Given the description of an element on the screen output the (x, y) to click on. 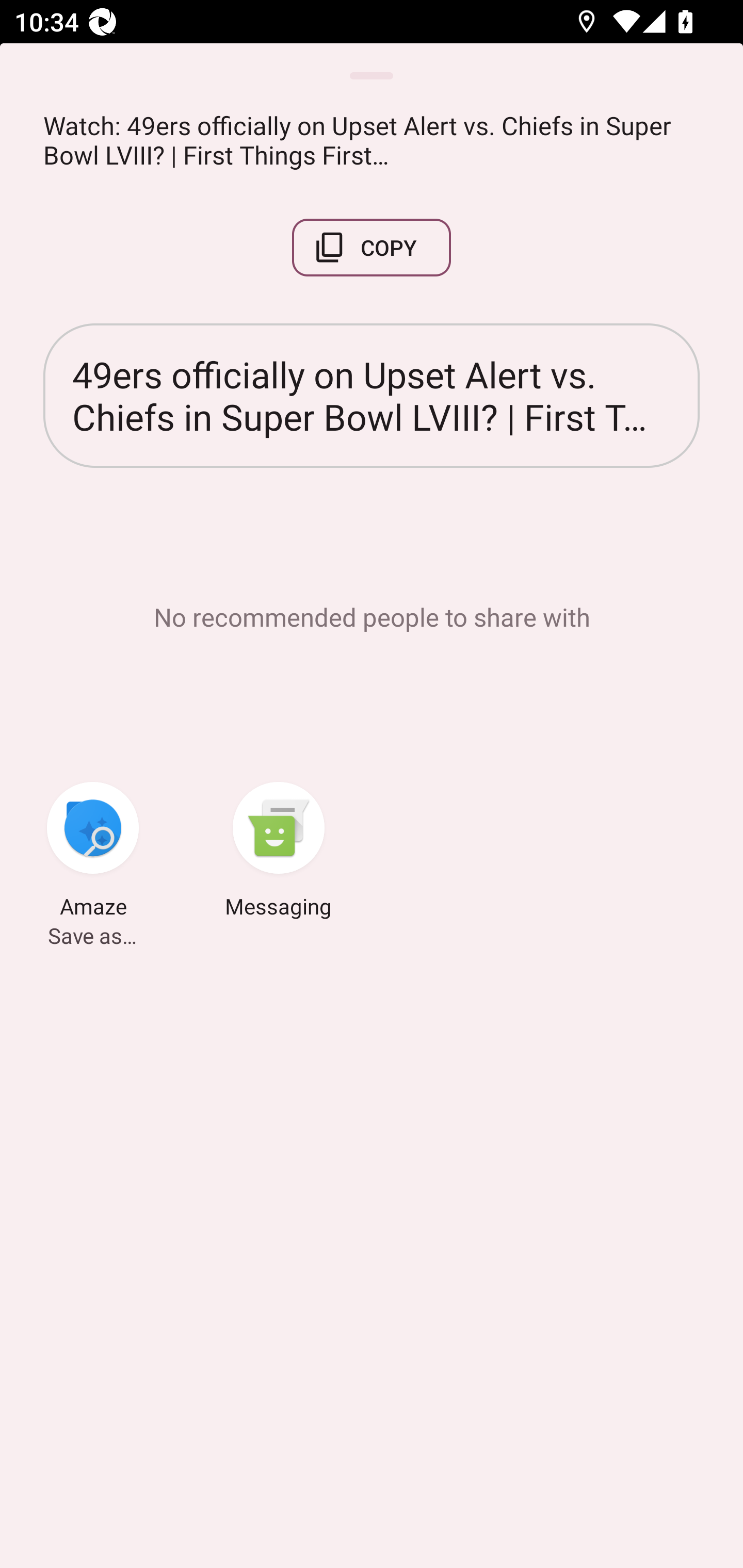
COPY (371, 247)
Amaze Save as… (92, 852)
Messaging (278, 852)
